Given the description of an element on the screen output the (x, y) to click on. 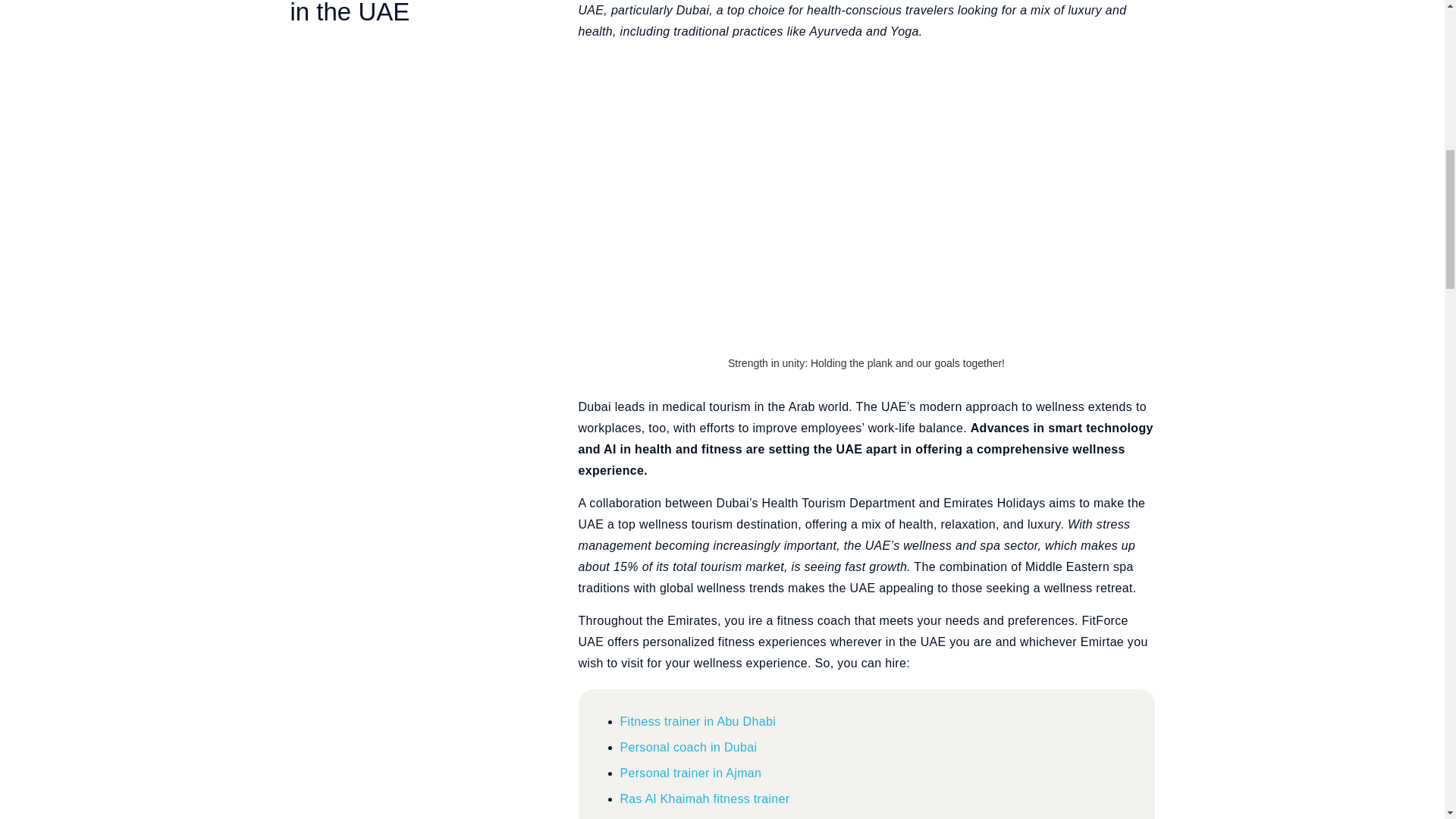
Ras Al Khaimah fitness trainer (705, 798)
Personal trainer in Ajman (690, 772)
Personal coach in Dubai (688, 747)
Fitness trainer in Abu Dhabi (698, 721)
